Given the description of an element on the screen output the (x, y) to click on. 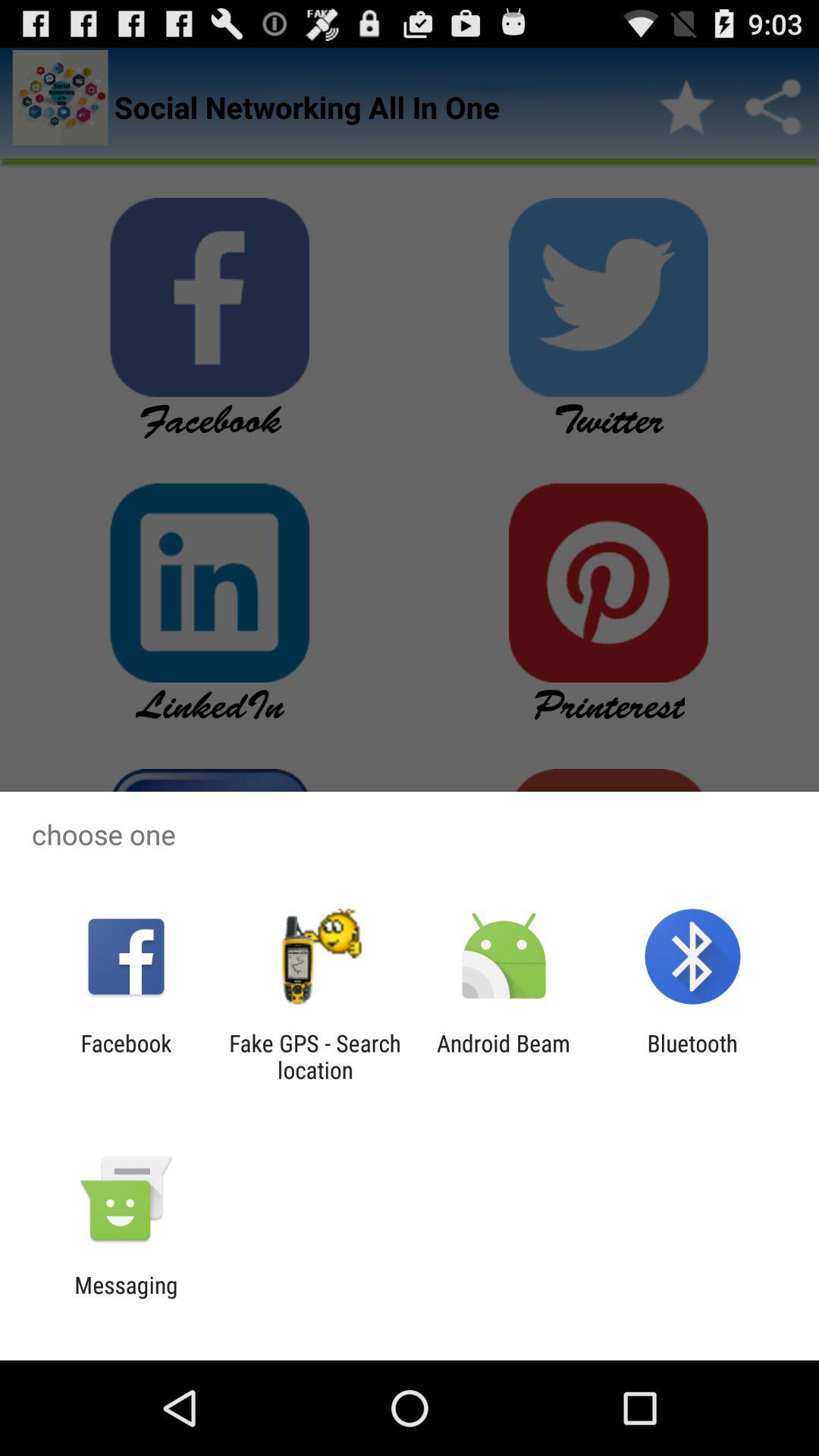
select fake gps search item (314, 1056)
